Given the description of an element on the screen output the (x, y) to click on. 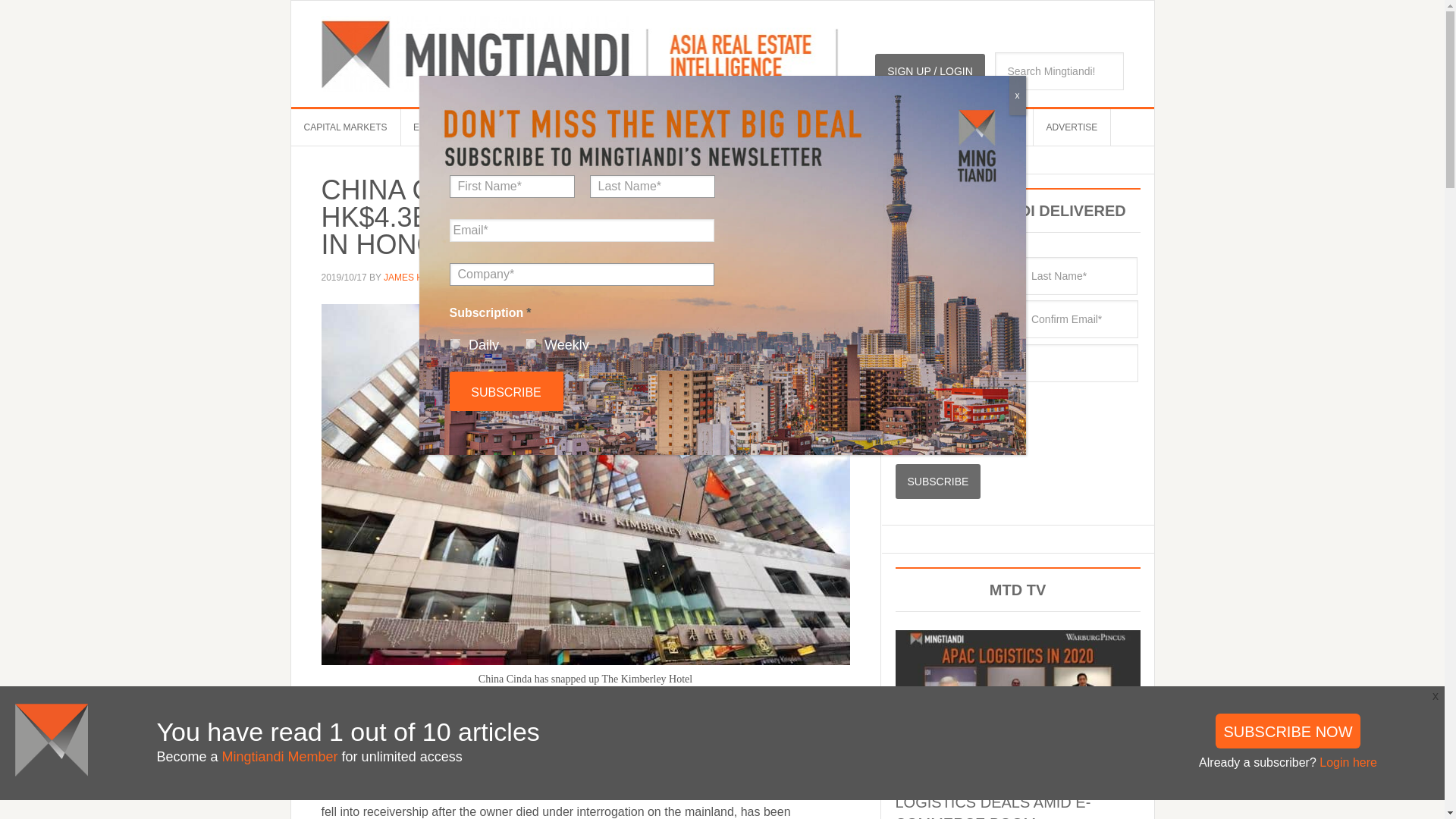
Weekly (530, 343)
ASIA OUTBOUND (805, 126)
ADVERTISE (1072, 126)
RETAIL (883, 126)
LOGISTICS (622, 126)
DATA CENTRES (706, 126)
CAPITAL MARKETS (346, 126)
MTD TV (492, 126)
JAMES HATTON (418, 276)
PEOPLE (553, 126)
Subscribe (937, 481)
MINGTIANDI (579, 53)
Investors Boost APAC Logistics Deals Amid E-Commerce Boom (992, 796)
